Given the description of an element on the screen output the (x, y) to click on. 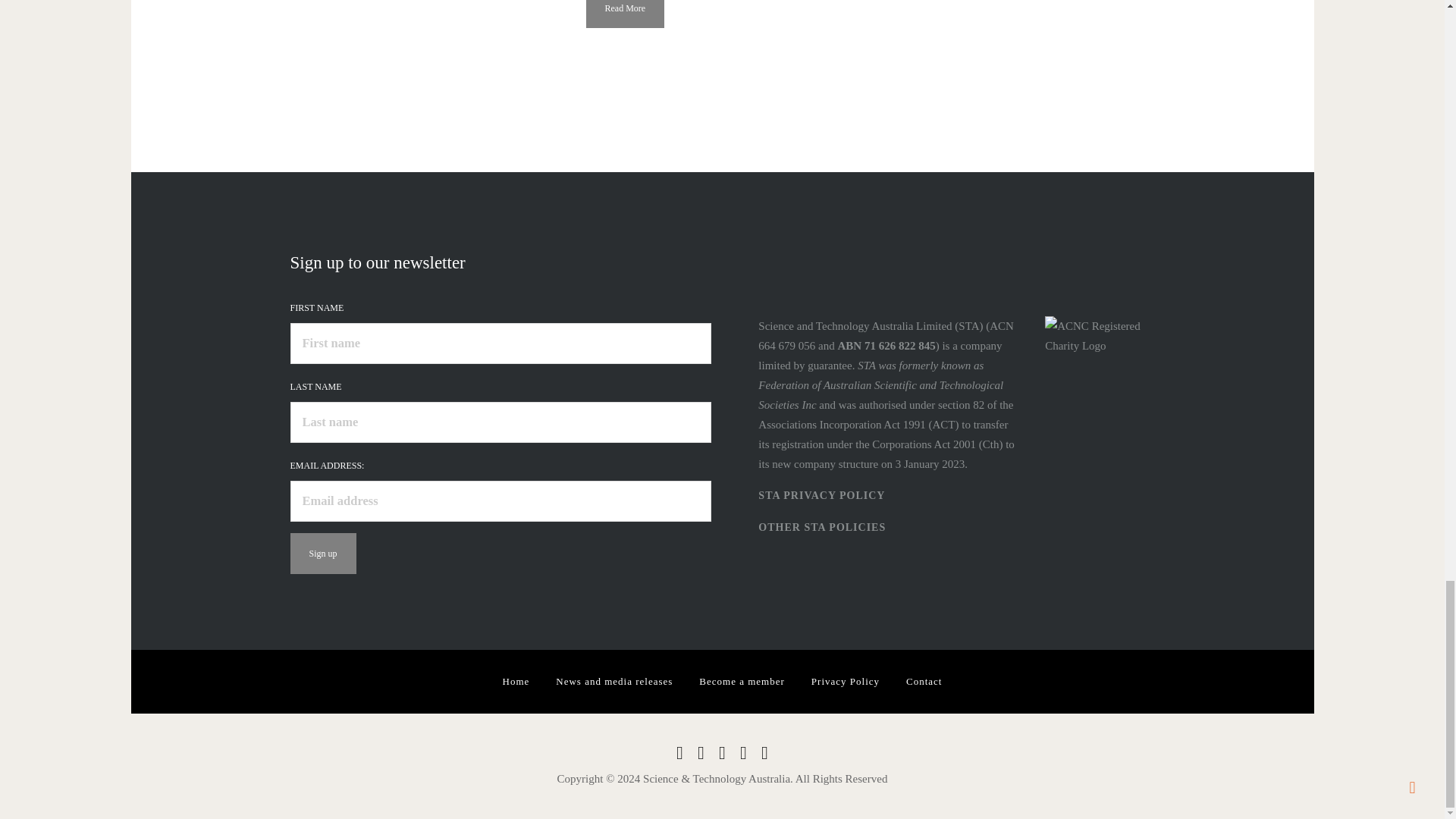
Sign up (322, 553)
